Given the description of an element on the screen output the (x, y) to click on. 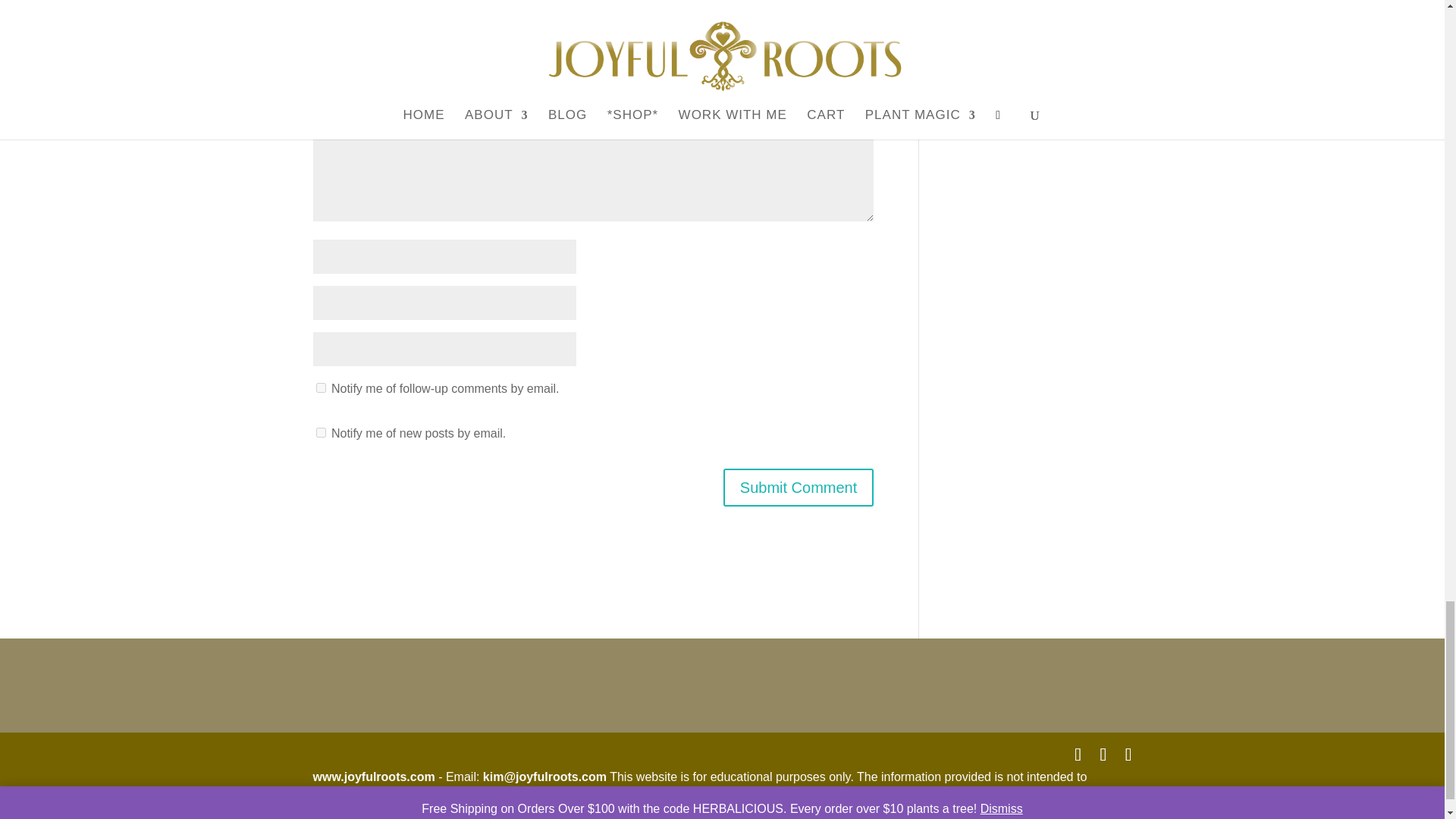
Submit Comment (799, 487)
Submit Comment (799, 487)
subscribe (319, 388)
subscribe (319, 432)
www.joyfulroots.com (373, 776)
